Given the description of an element on the screen output the (x, y) to click on. 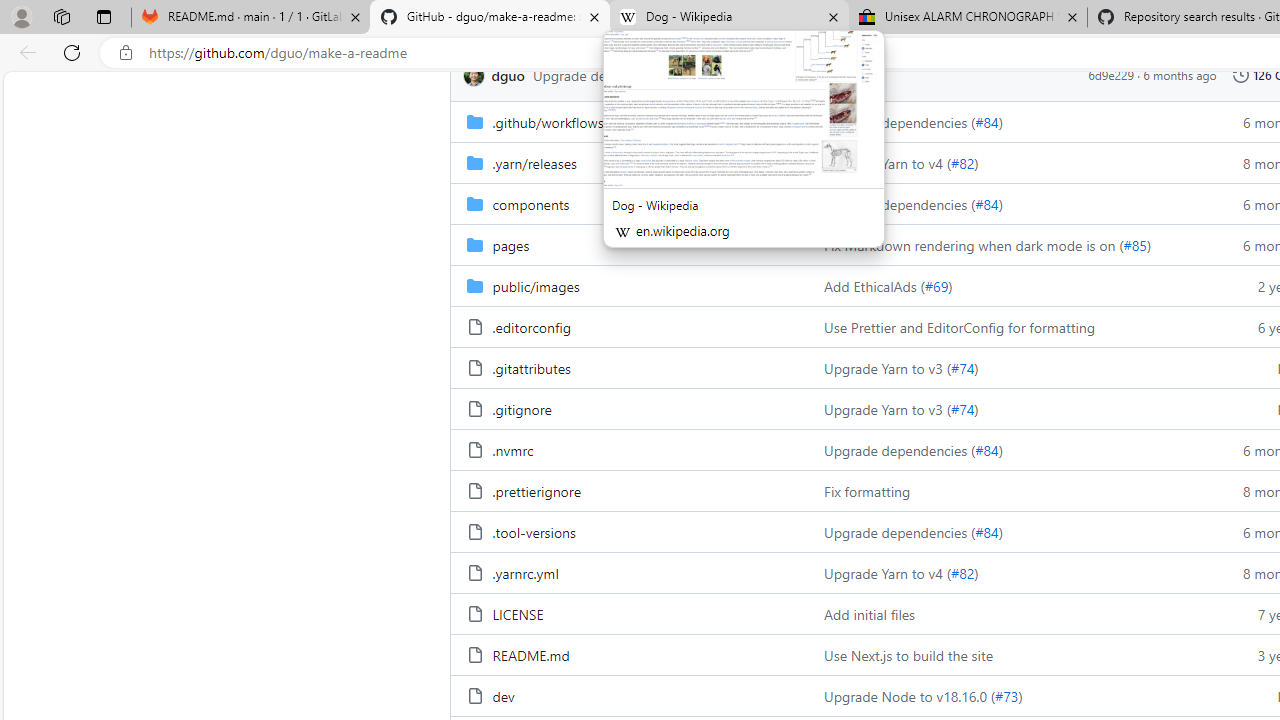
.tool-versions, (File) (533, 532)
components, (Directory) (629, 202)
#74 (962, 408)
Upgrade dependencies (#84) (1008, 531)
Upgrade Node to v18.16.0 ( (909, 696)
public/images, (Directory) (535, 285)
commits by dguo (507, 74)
#82 (962, 573)
.editorconfig, (File) (629, 326)
LICENSE, (File) (629, 613)
) (1019, 696)
dev, (File) (629, 695)
#84 (986, 532)
.gitattributes, (File) (530, 367)
Back (24, 52)
